Given the description of an element on the screen output the (x, y) to click on. 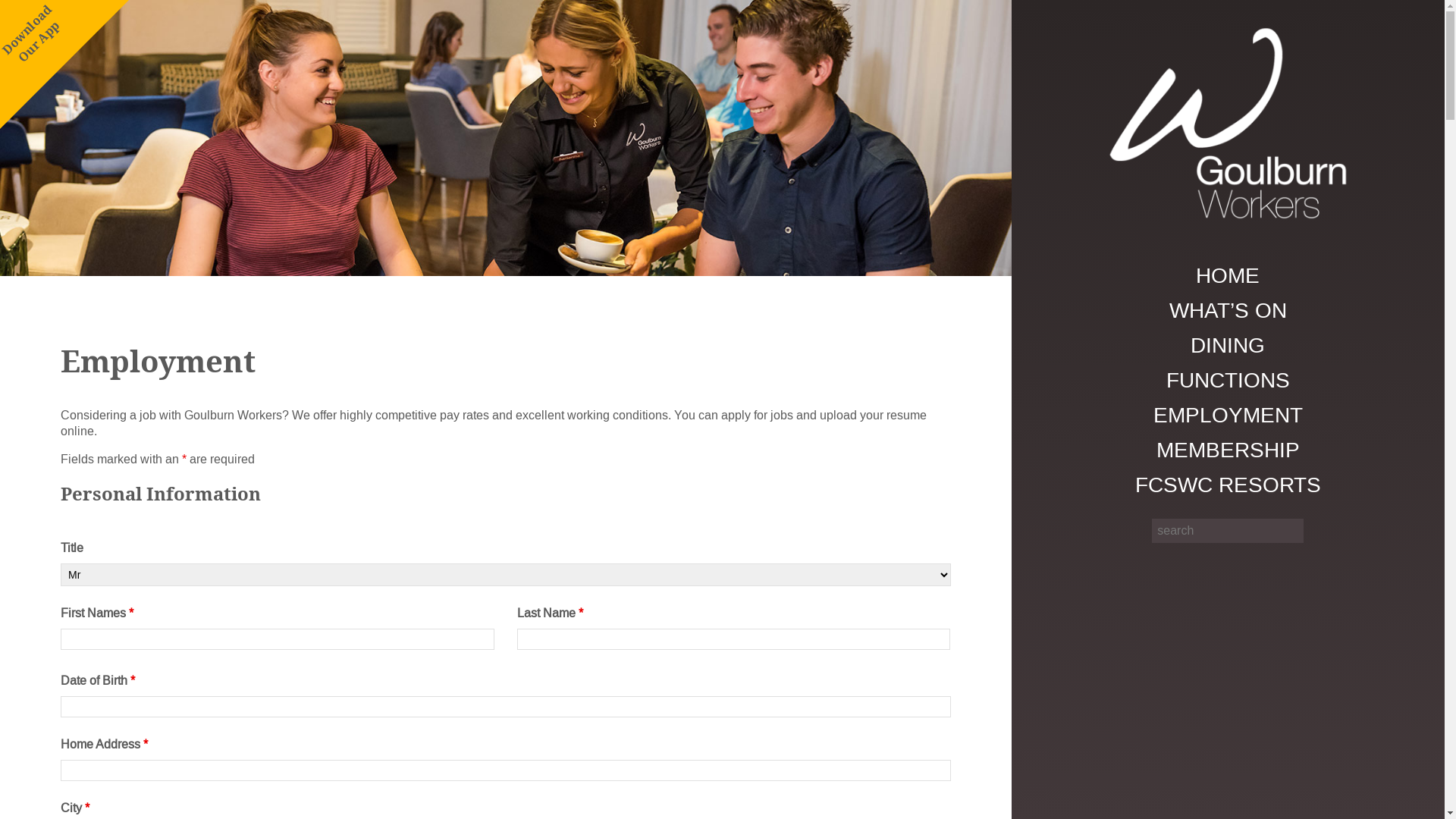
FCSWC RESORTS Element type: text (1227, 484)
DINING Element type: text (1227, 345)
HOME Element type: text (1227, 275)
FUNCTIONS Element type: text (1227, 380)
MEMBERSHIP Element type: text (1227, 450)
EMPLOYMENT Element type: text (1227, 415)
